Given the description of an element on the screen output the (x, y) to click on. 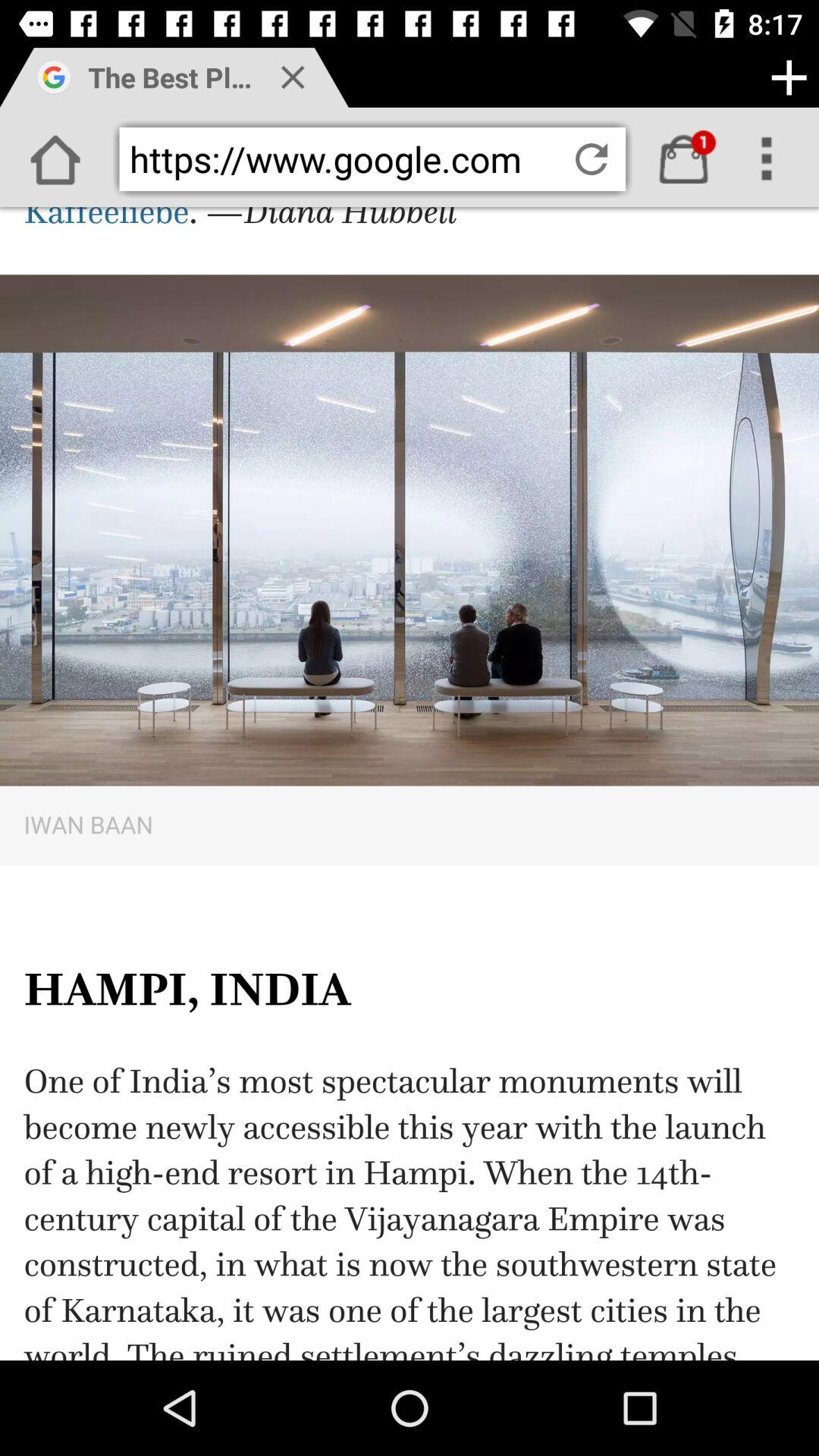
shopping bag (683, 159)
